Given the description of an element on the screen output the (x, y) to click on. 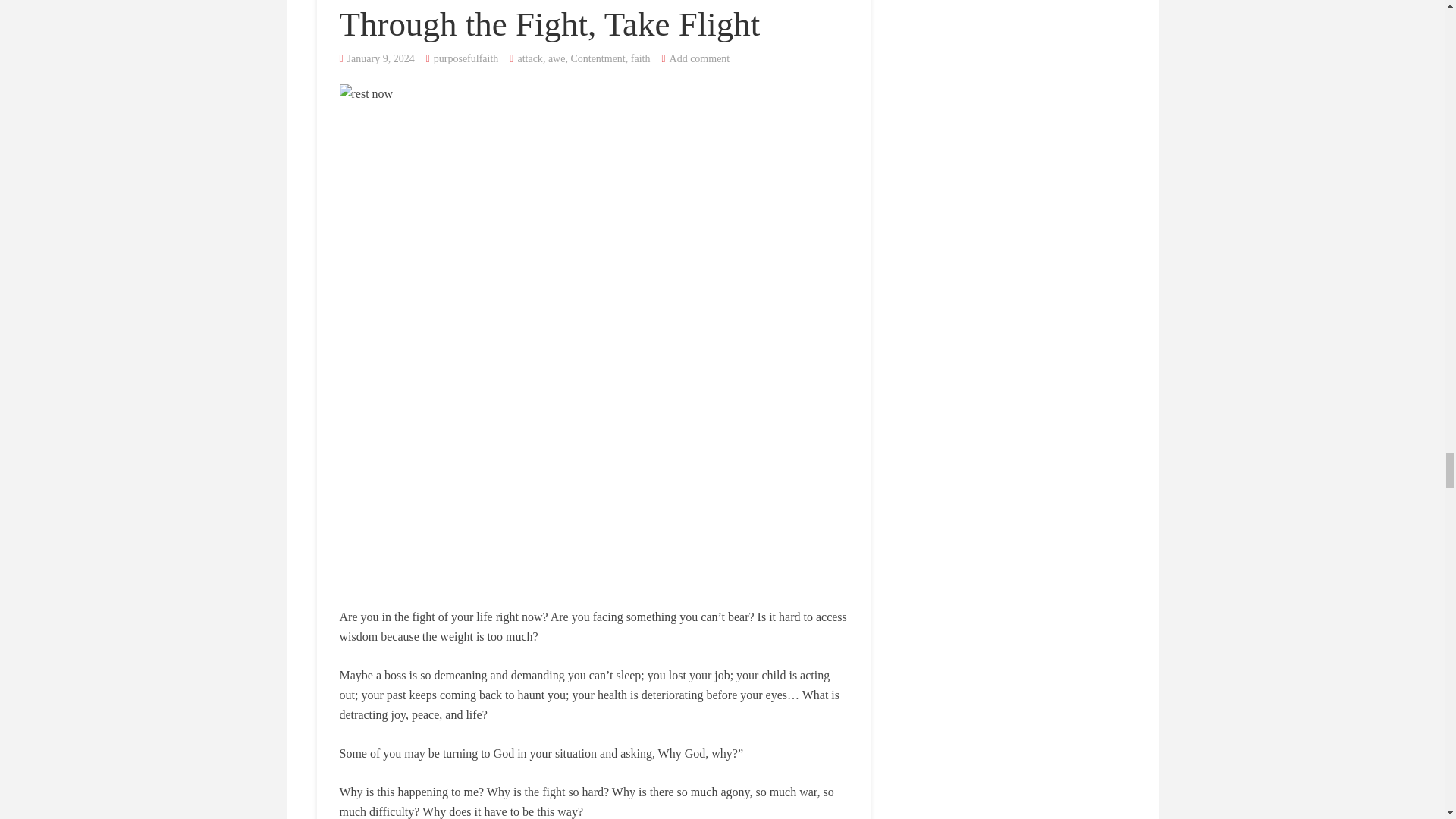
Through the Fight, Take Flight (549, 23)
